Given the description of an element on the screen output the (x, y) to click on. 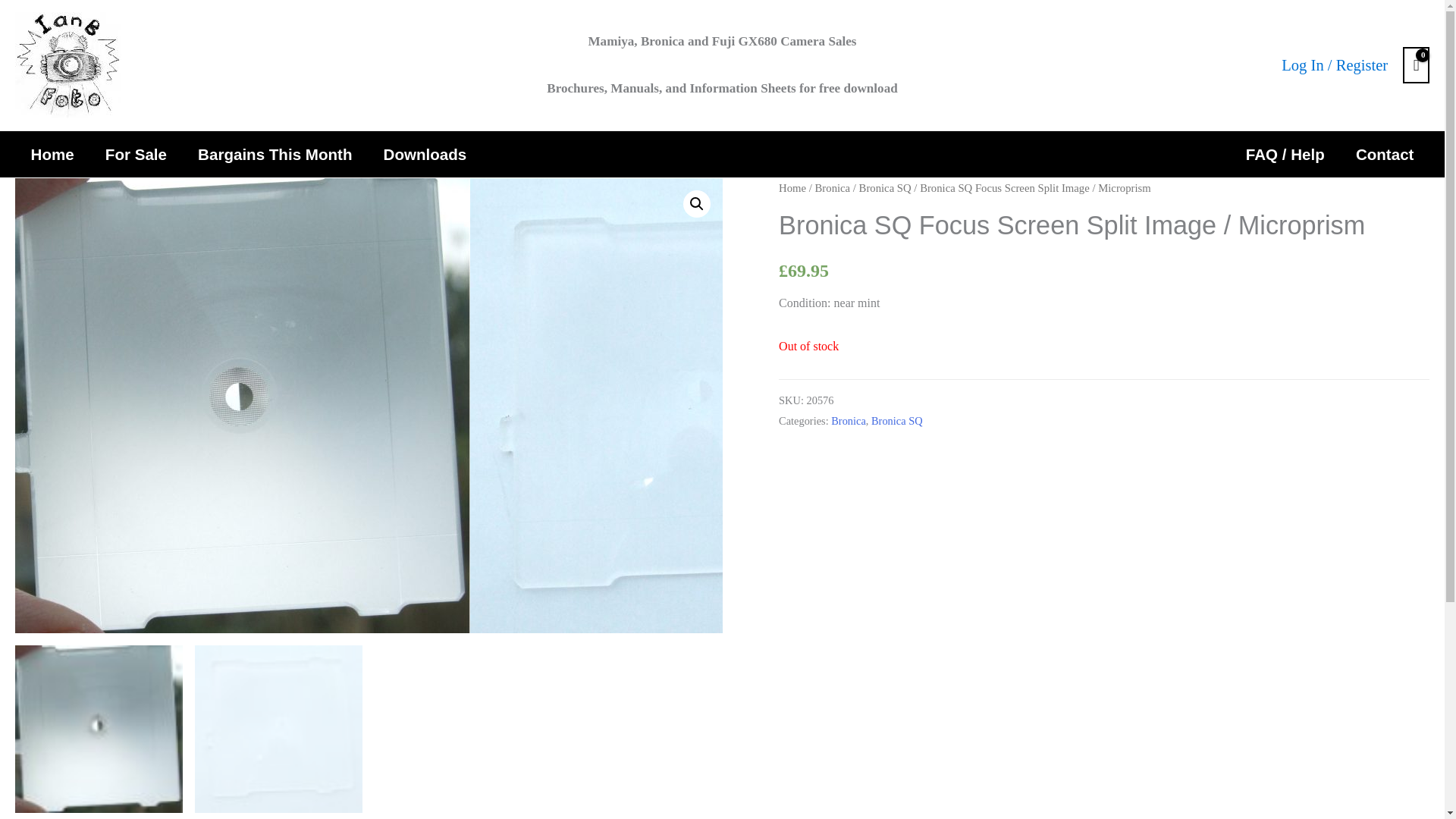
Bargains This Month (275, 154)
Bronica (848, 420)
Downloads (424, 154)
Bronica SQ (896, 420)
Home (51, 154)
Contact (1384, 154)
Home (792, 187)
Bronica SQ (885, 187)
